Given the description of an element on the screen output the (x, y) to click on. 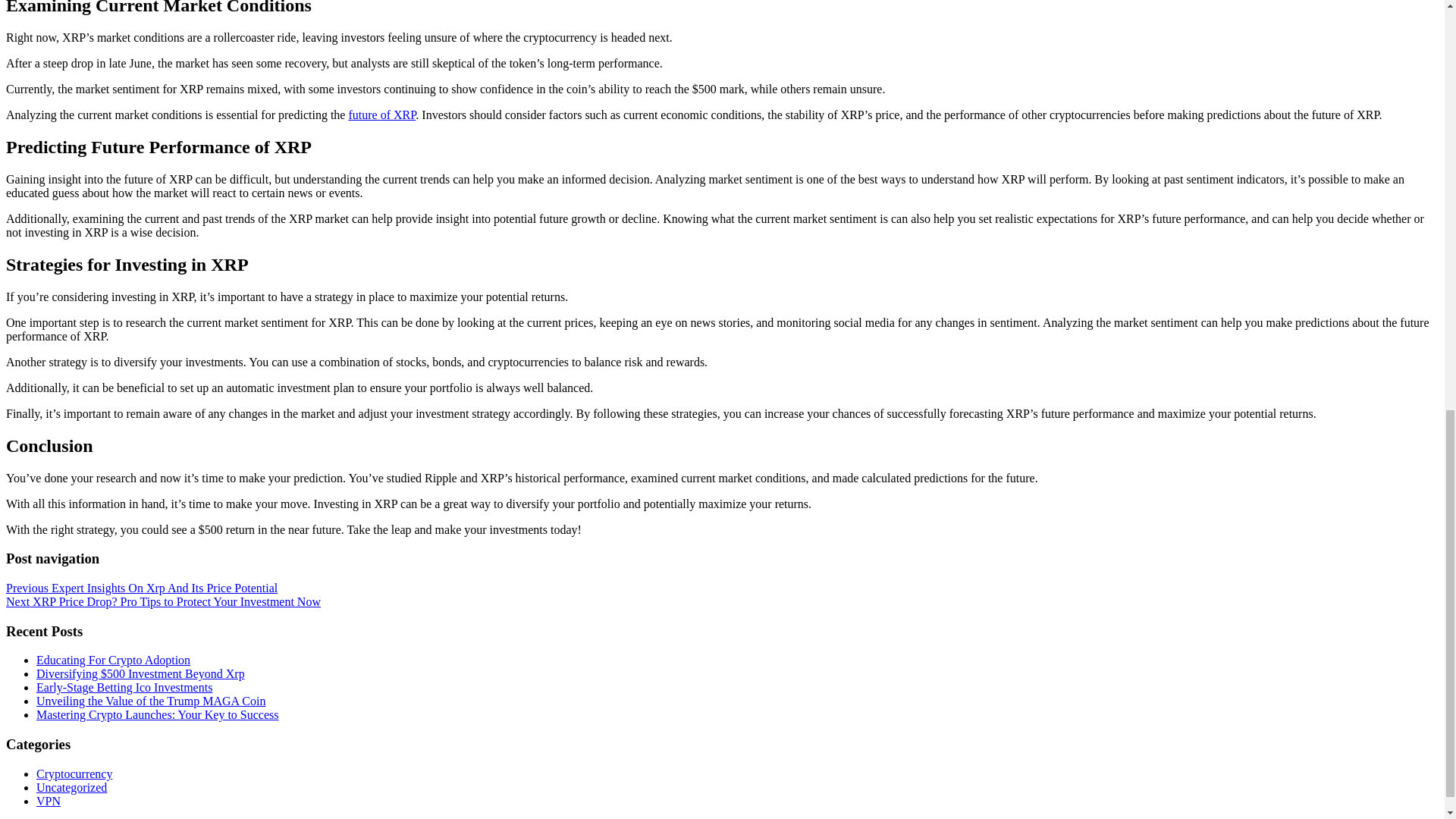
Mastering Crypto Launches: Your Key to Success (157, 714)
Cryptocurrency (74, 773)
Previous Expert Insights On Xrp And Its Price Potential (141, 587)
Uncategorized (71, 787)
Unveiling the Value of the Trump MAGA Coin (150, 700)
Early-Stage Betting Ico Investments (124, 686)
future of XRP (380, 114)
future of XRP (380, 114)
Next XRP Price Drop? Pro Tips to Protect Your Investment Now (162, 601)
VPN (48, 800)
Educating For Crypto Adoption (113, 659)
